Given the description of an element on the screen output the (x, y) to click on. 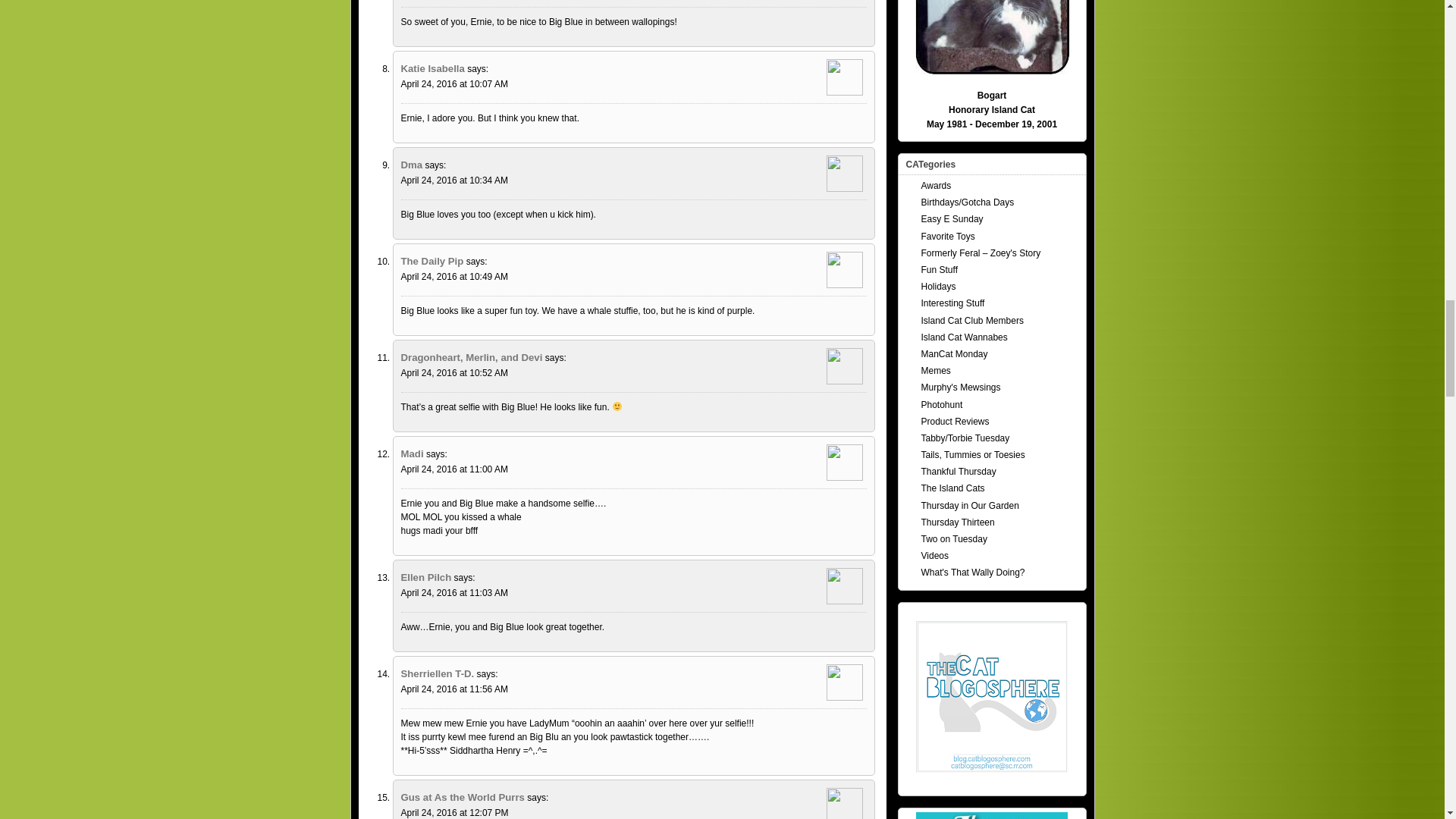
April 24, 2016 at 10:34 AM (453, 180)
The Daily Pip (431, 260)
April 24, 2016 at 10:07 AM (453, 83)
Dma (411, 164)
